Given the description of an element on the screen output the (x, y) to click on. 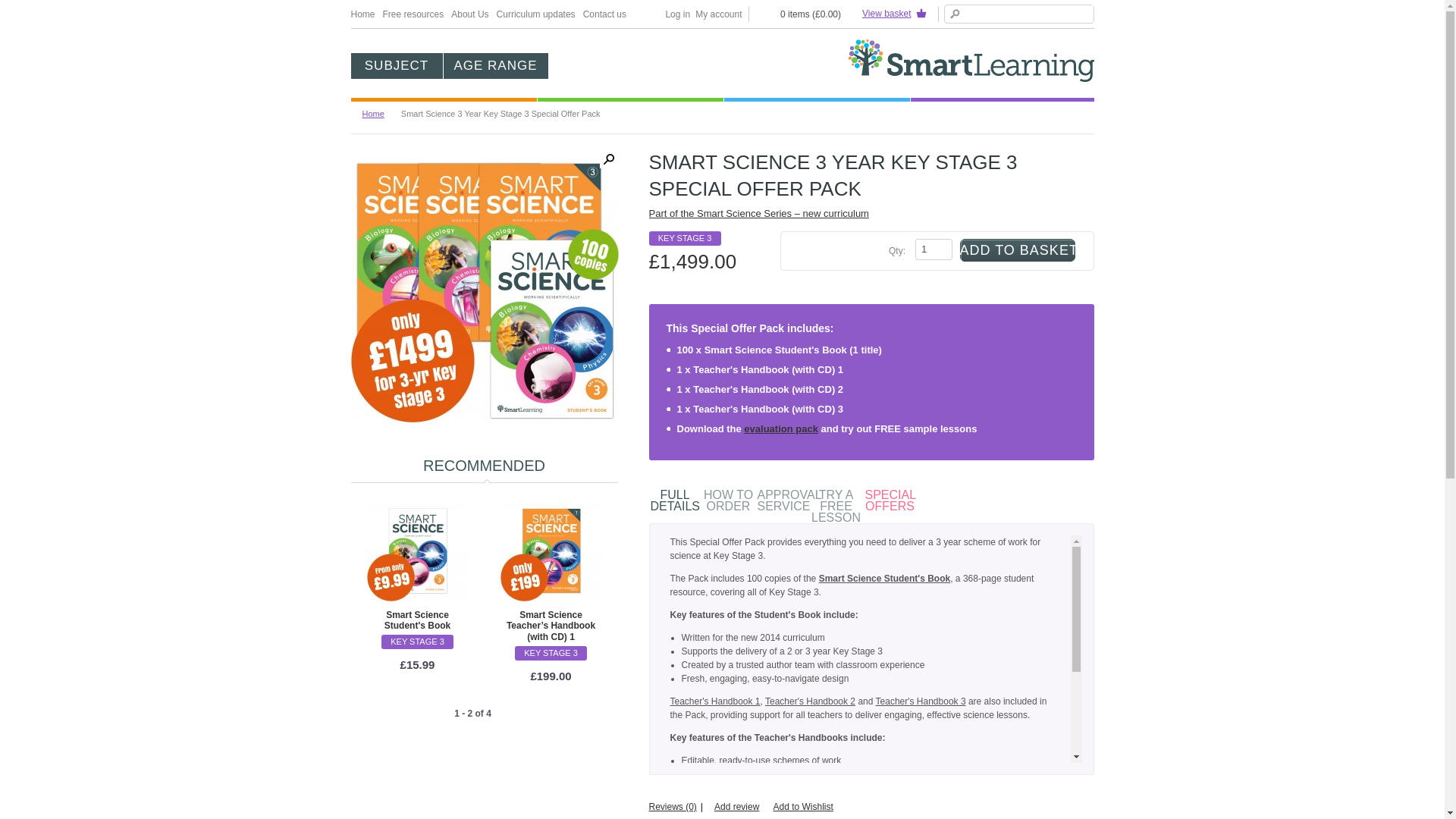
Search (954, 13)
Home (362, 14)
Free resources (413, 14)
Curriculum updates (535, 14)
Smart Learning (970, 60)
Curriculum updates (535, 14)
SUBJECT (396, 65)
SEARCH (954, 13)
Go to Home Page (379, 112)
Free resources (413, 14)
